Given the description of an element on the screen output the (x, y) to click on. 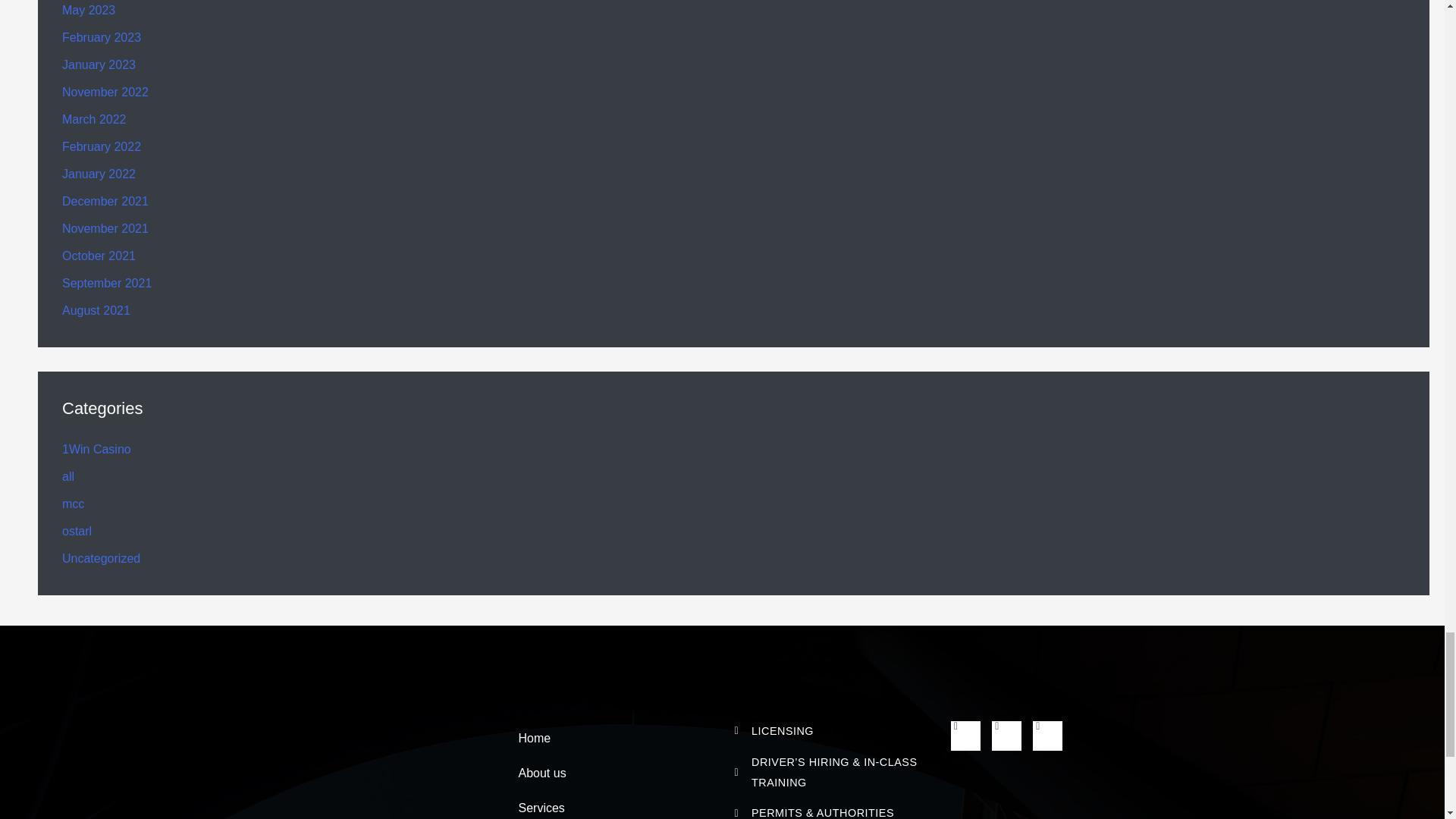
February 2022 (101, 146)
March 2022 (94, 119)
January 2023 (98, 64)
November 2022 (105, 91)
February 2023 (101, 37)
May 2023 (88, 10)
